Given the description of an element on the screen output the (x, y) to click on. 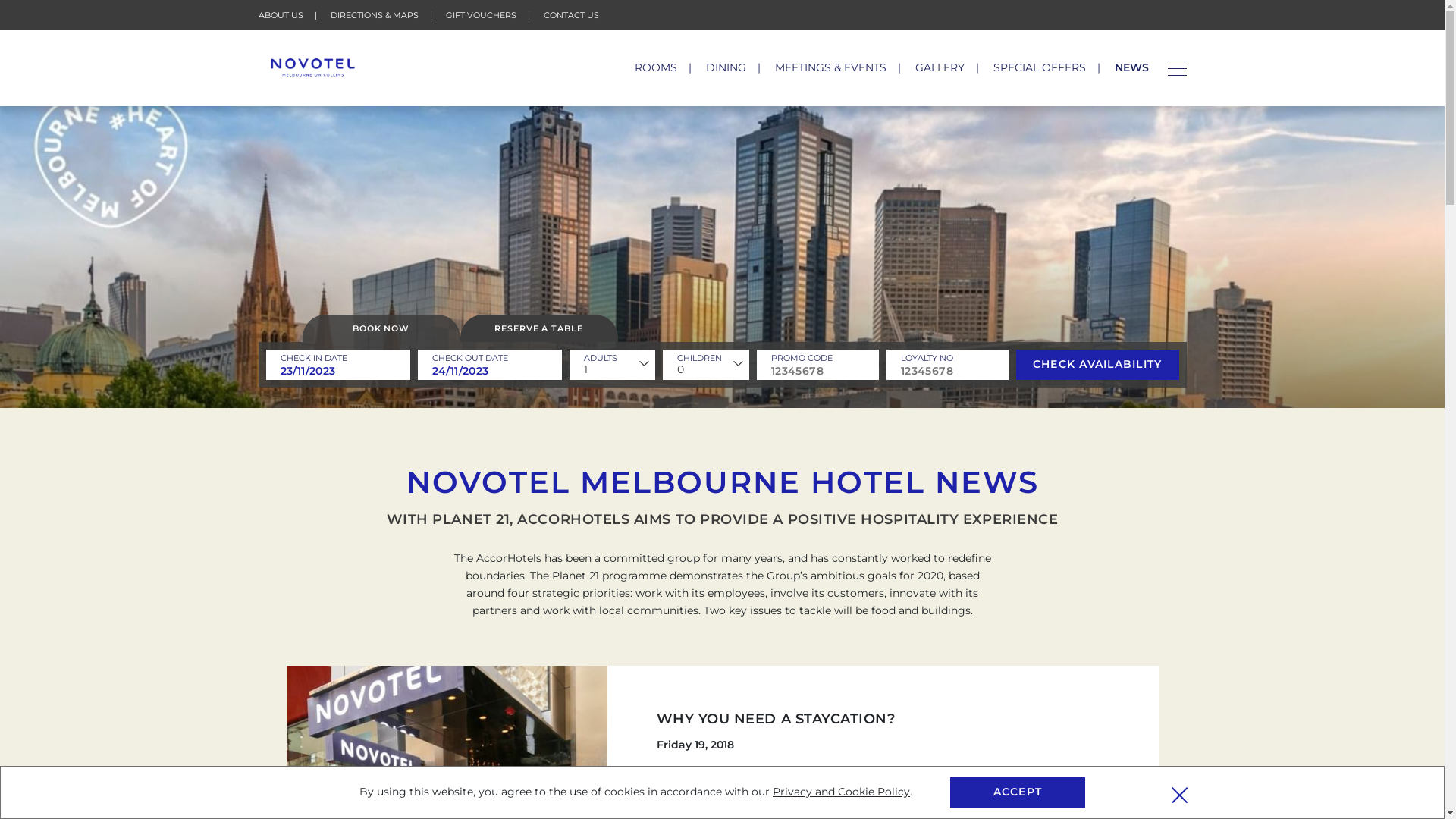
CHECK AVAILABILITY Element type: text (1097, 364)
MEETINGS & EVENTS Element type: text (830, 67)
GALLERY Element type: text (938, 67)
NEWS Element type: text (1131, 67)
DINING Element type: text (725, 67)
GIFT VOUCHERS Element type: text (480, 14)
CONTACT US Element type: text (570, 14)
BOOK NOW Element type: text (380, 328)
Privacy and Cookie Policy
Opens in a new tab. Element type: text (841, 791)
ROOMS Element type: text (654, 67)
ABOUT US Element type: text (279, 14)
SPECIAL OFFERS Element type: text (1039, 67)
DIRECTIONS & MAPS Element type: text (374, 14)
ACCEPT Element type: text (1017, 792)
RESERVE A TABLE Element type: text (538, 328)
